Given the description of an element on the screen output the (x, y) to click on. 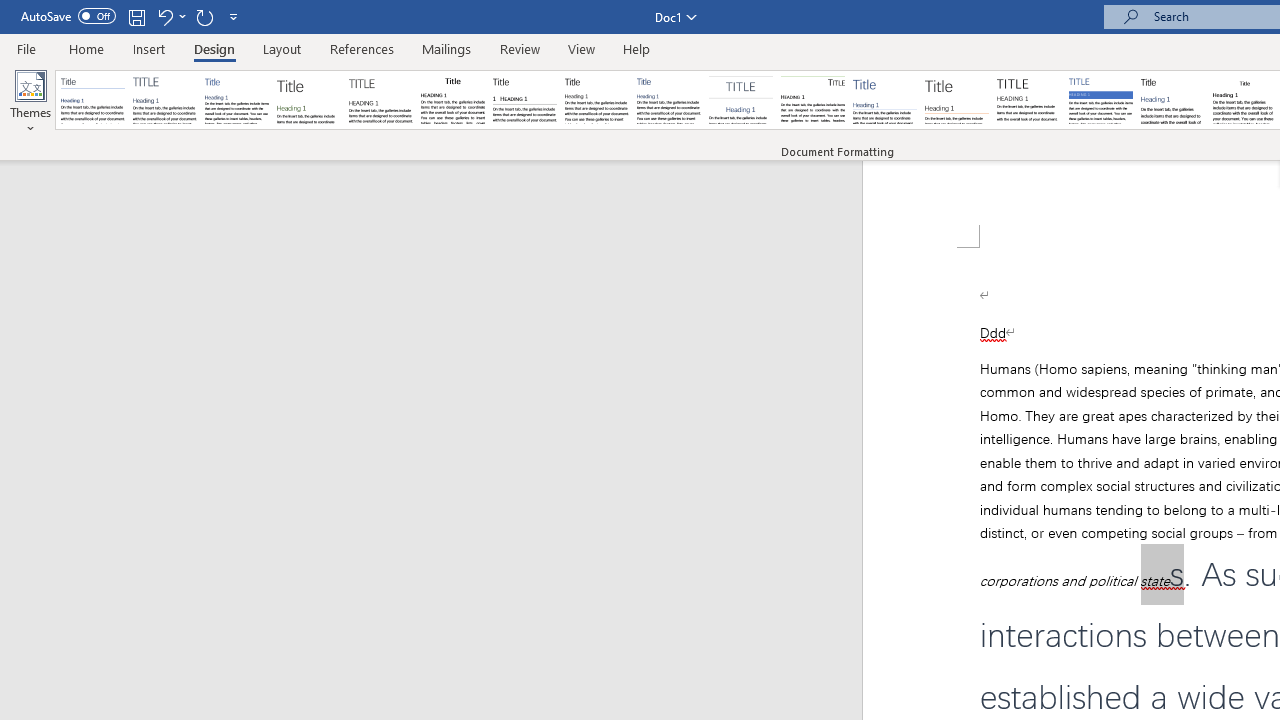
Basic (Simple) (236, 100)
Basic (Stylish) (308, 100)
Lines (Stylish) (957, 100)
